Given the description of an element on the screen output the (x, y) to click on. 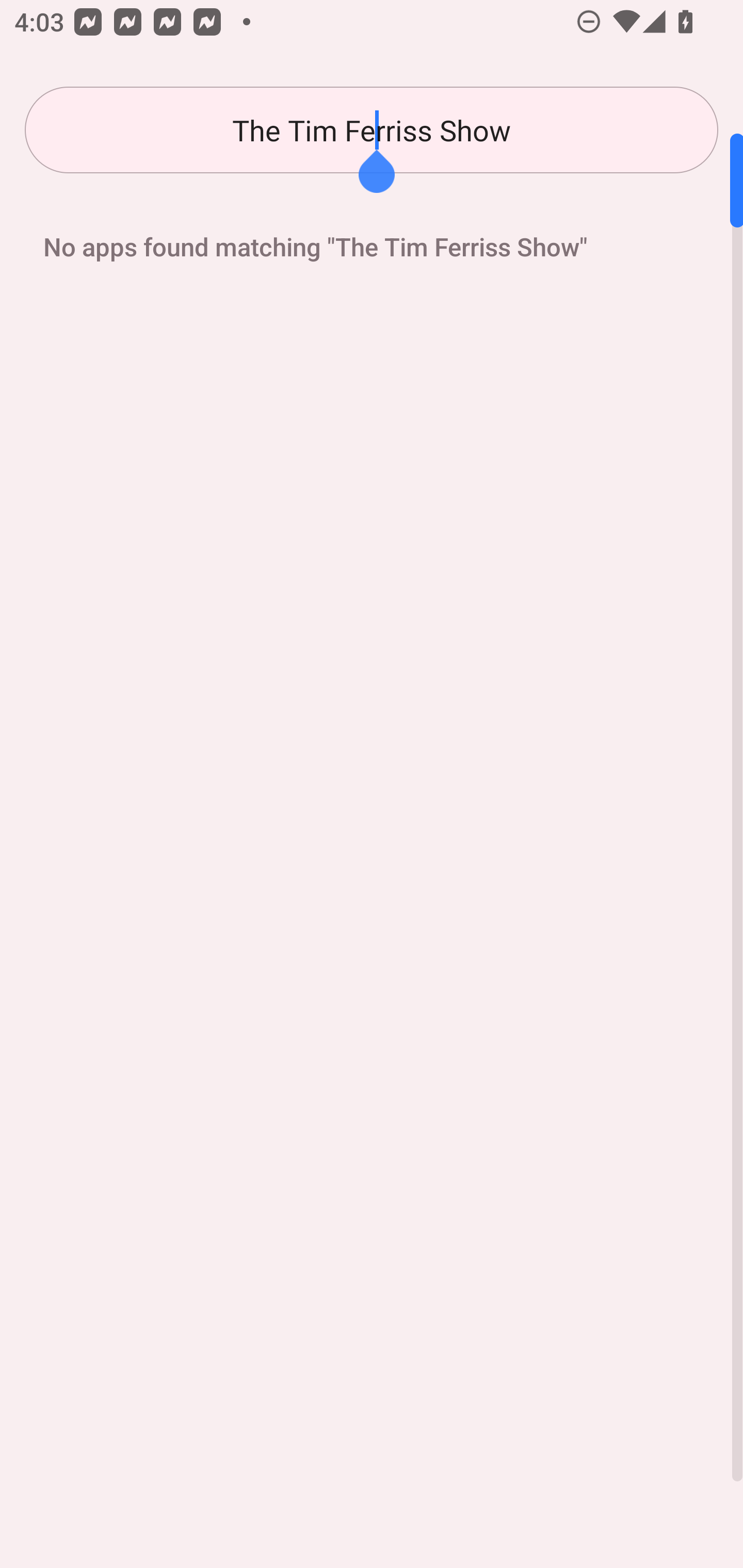
The Tim Ferriss Show (371, 130)
